Given the description of an element on the screen output the (x, y) to click on. 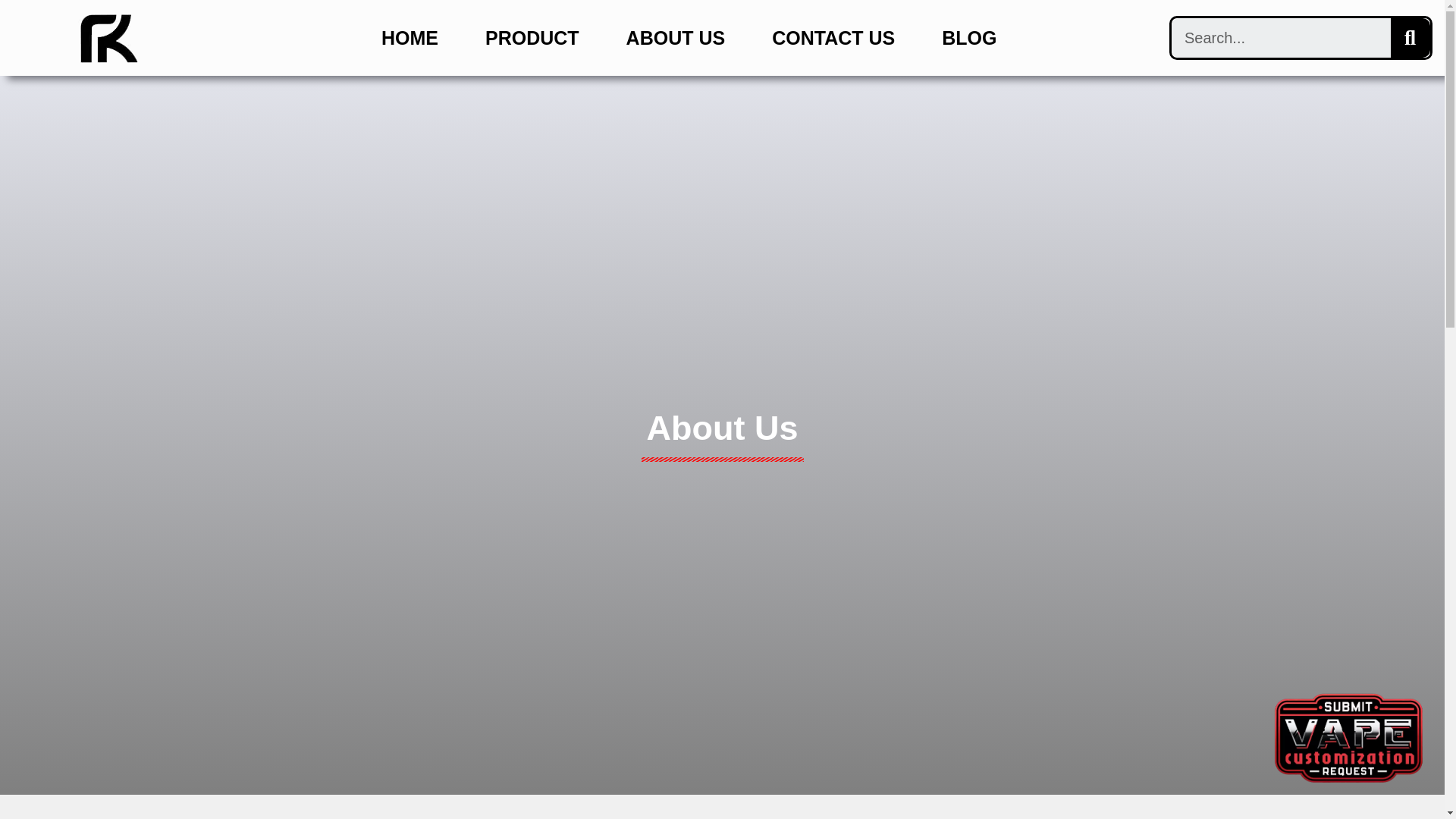
Search (1281, 37)
CONTACT US (833, 37)
HOME (409, 37)
PRODUCT (531, 37)
Search (1409, 37)
ABOUT US (675, 37)
